Given the description of an element on the screen output the (x, y) to click on. 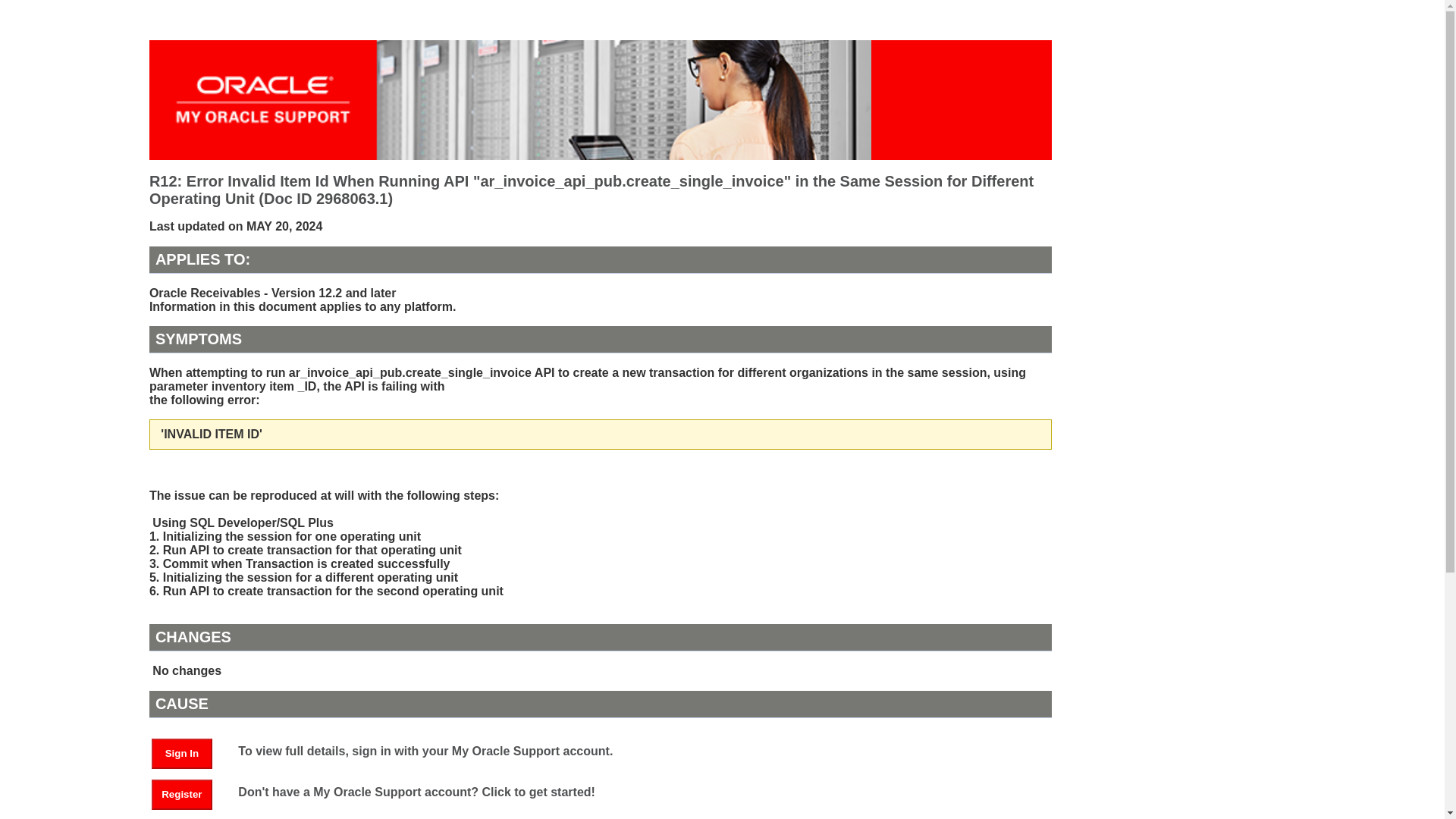
Sign In (181, 753)
Sign In (189, 752)
Register (189, 793)
Register (181, 794)
